Given the description of an element on the screen output the (x, y) to click on. 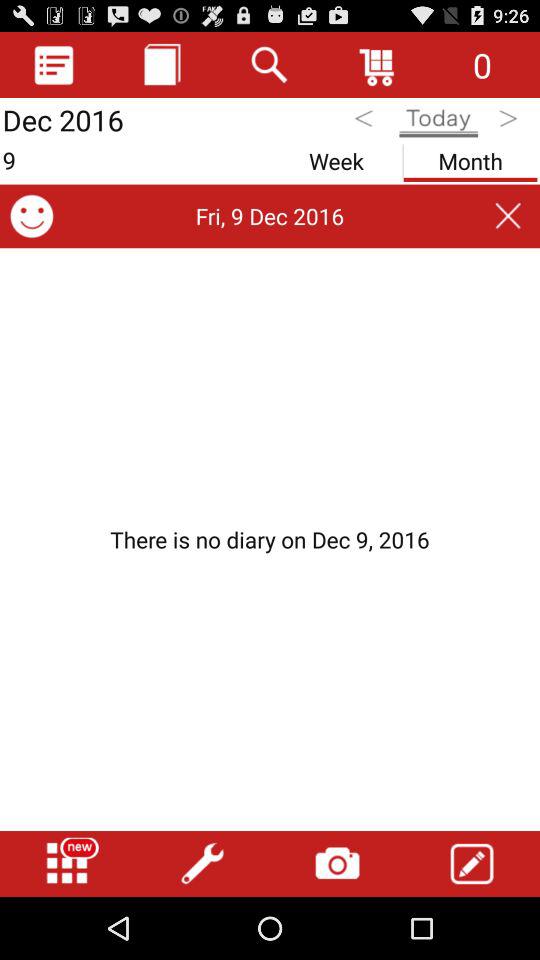
press app next to the 0 (377, 64)
